Given the description of an element on the screen output the (x, y) to click on. 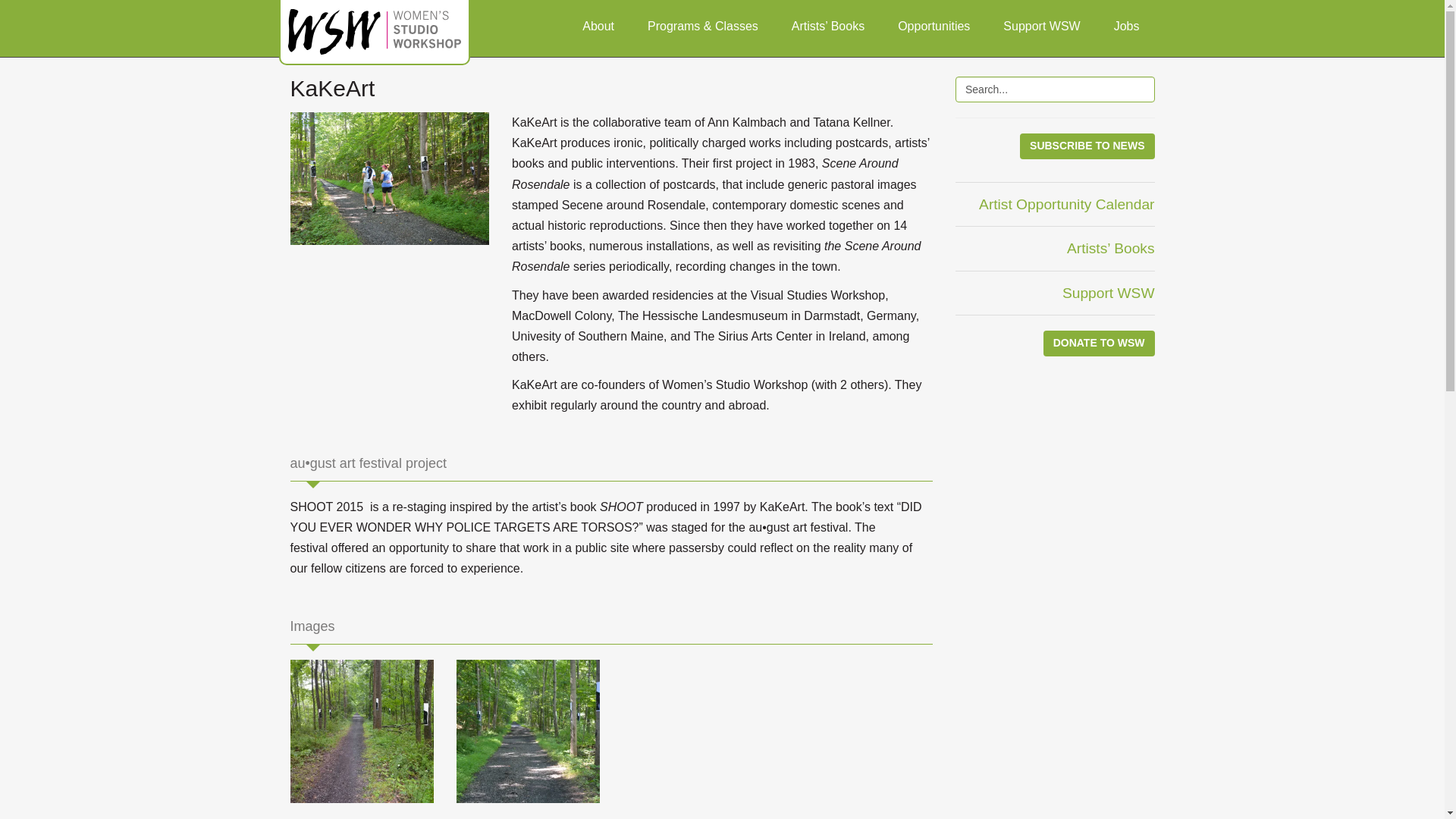
Search... (1054, 89)
Search... (1054, 89)
